Given the description of an element on the screen output the (x, y) to click on. 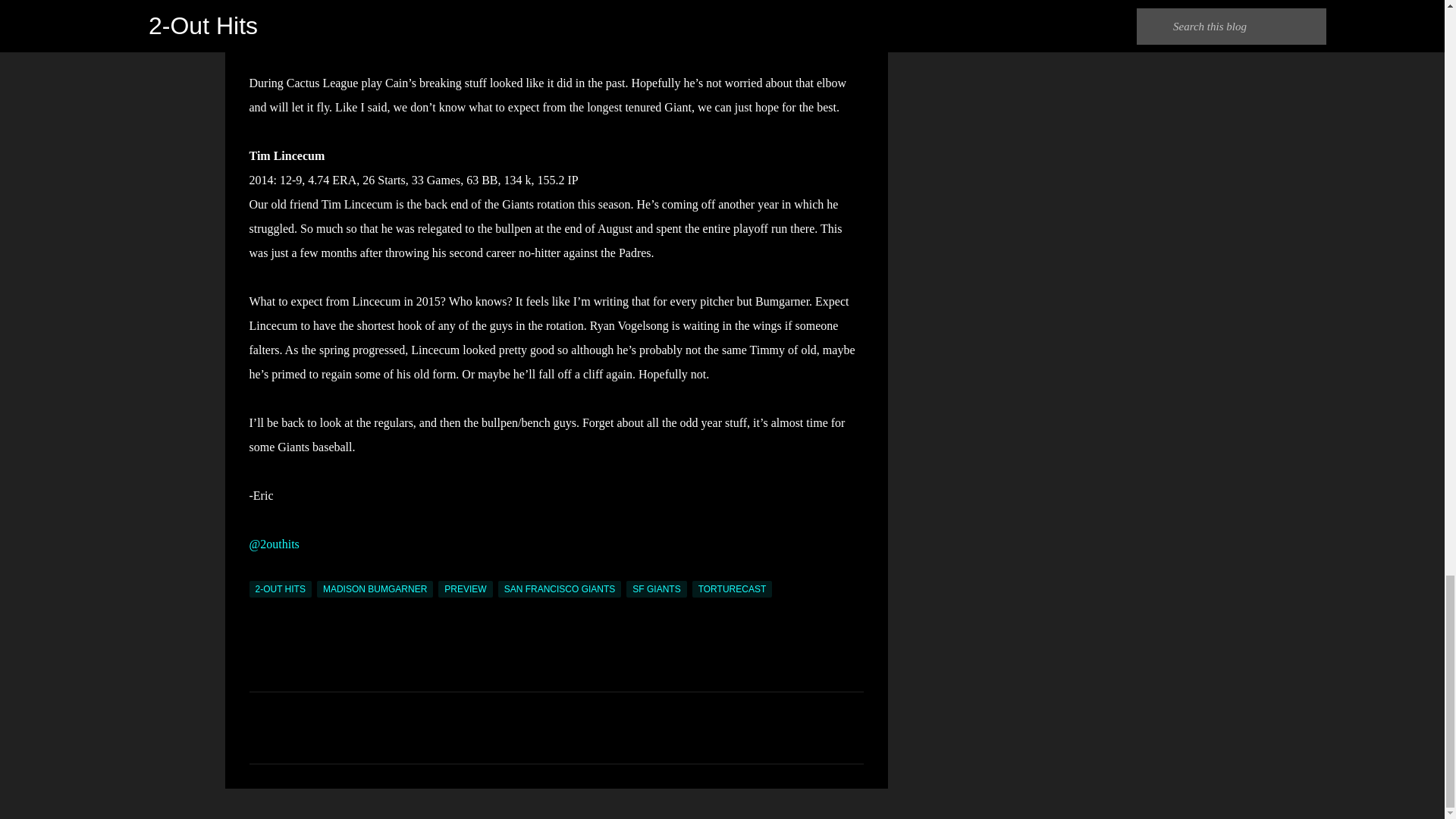
PREVIEW (465, 588)
SF GIANTS (655, 588)
SAN FRANCISCO GIANTS (559, 588)
MADISON BUMGARNER (374, 588)
Email Post (257, 571)
2-OUT HITS (279, 588)
TORTURECAST (733, 588)
